Given the description of an element on the screen output the (x, y) to click on. 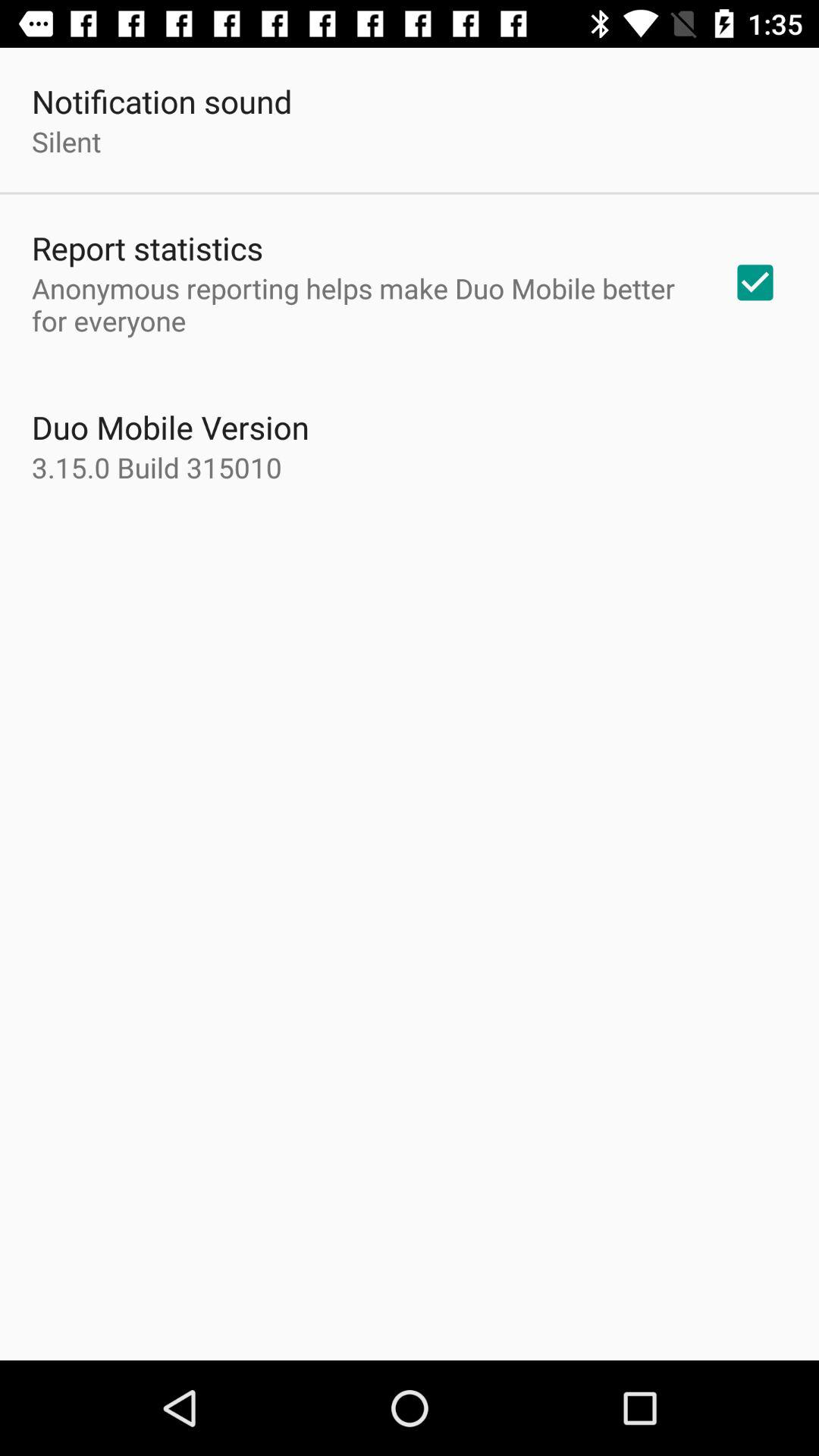
click the icon below the report statistics (361, 304)
